Given the description of an element on the screen output the (x, y) to click on. 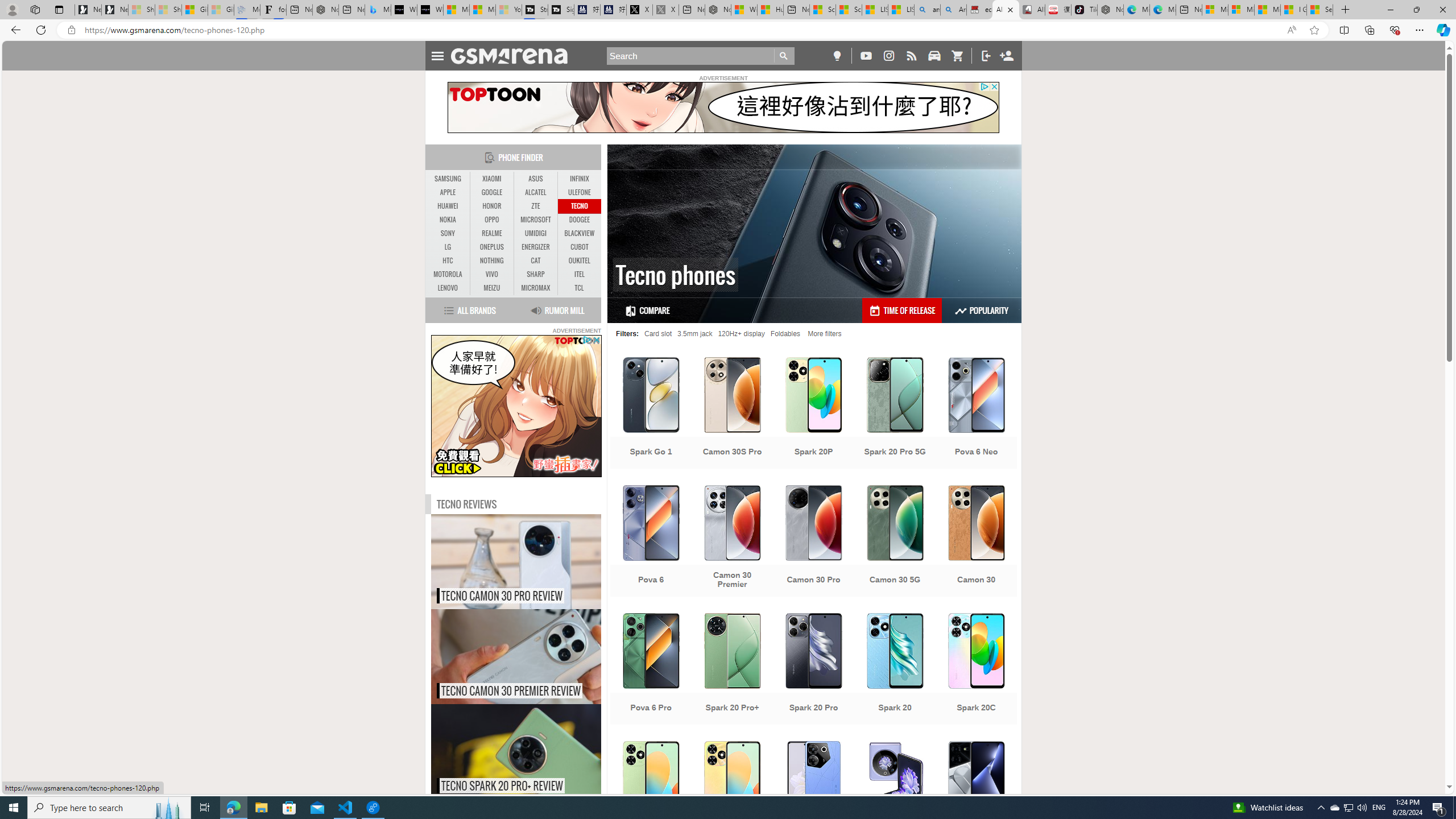
UMIDIGI (535, 233)
TCL (578, 287)
Foldables (785, 333)
Camon 30 (976, 542)
LENOVO (448, 287)
Add this page to favorites (Ctrl+D) (1314, 29)
Camon 30 Pro (813, 542)
CUBOT (579, 246)
REALME (491, 233)
3.5mm jack (694, 333)
3.5mm jack (694, 333)
LG (448, 246)
